Given the description of an element on the screen output the (x, y) to click on. 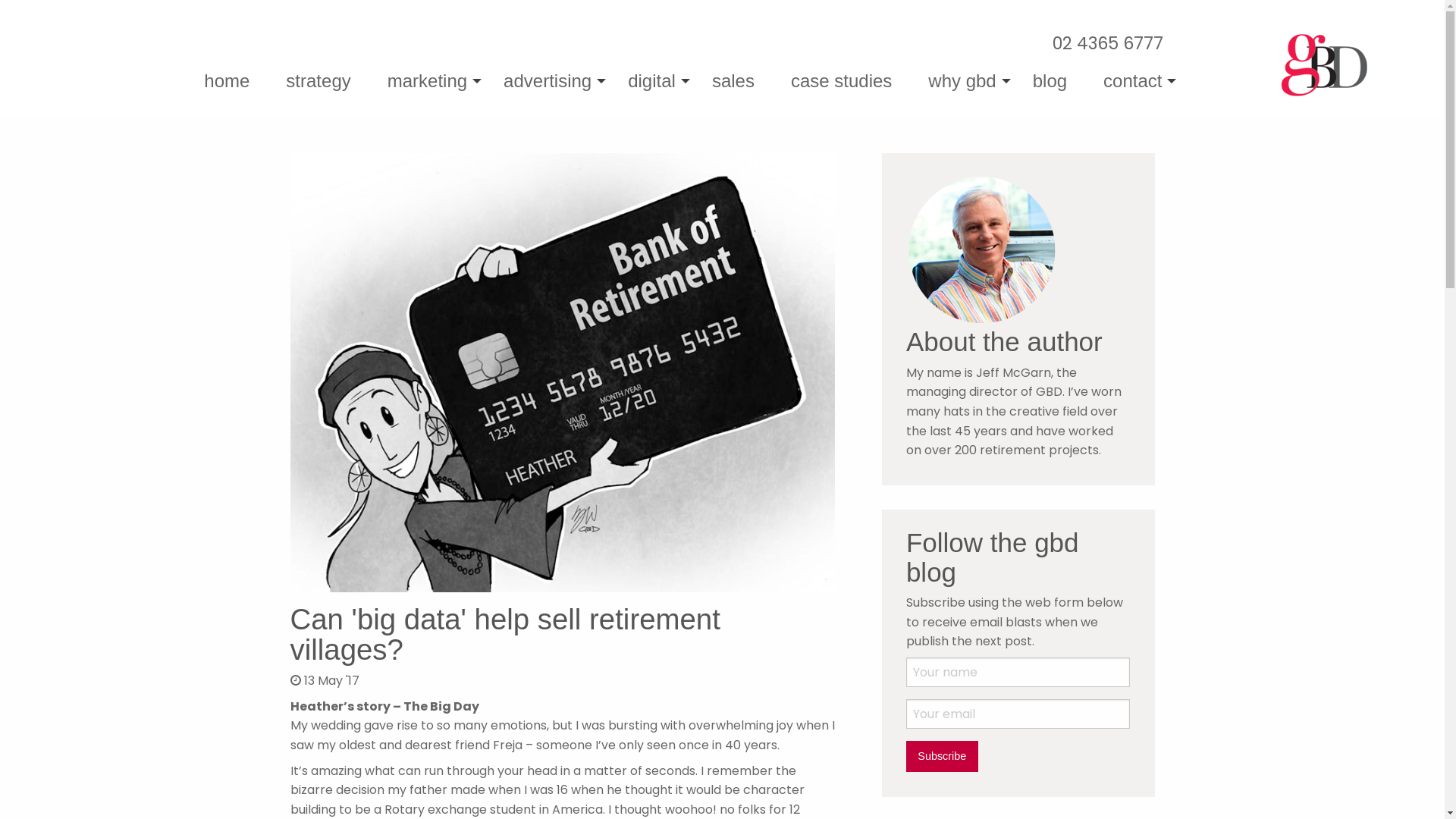
why gbd Element type: text (961, 80)
advertising Element type: text (547, 80)
sales Element type: text (732, 80)
Subscribe Element type: text (942, 755)
home Element type: text (226, 80)
contact Element type: text (1132, 80)
strategy Element type: text (317, 80)
case studies Element type: text (841, 80)
02 4365 6777 Element type: text (1107, 43)
digital Element type: text (651, 80)
marketing Element type: text (427, 80)
blog Element type: text (1049, 80)
